Given the description of an element on the screen output the (x, y) to click on. 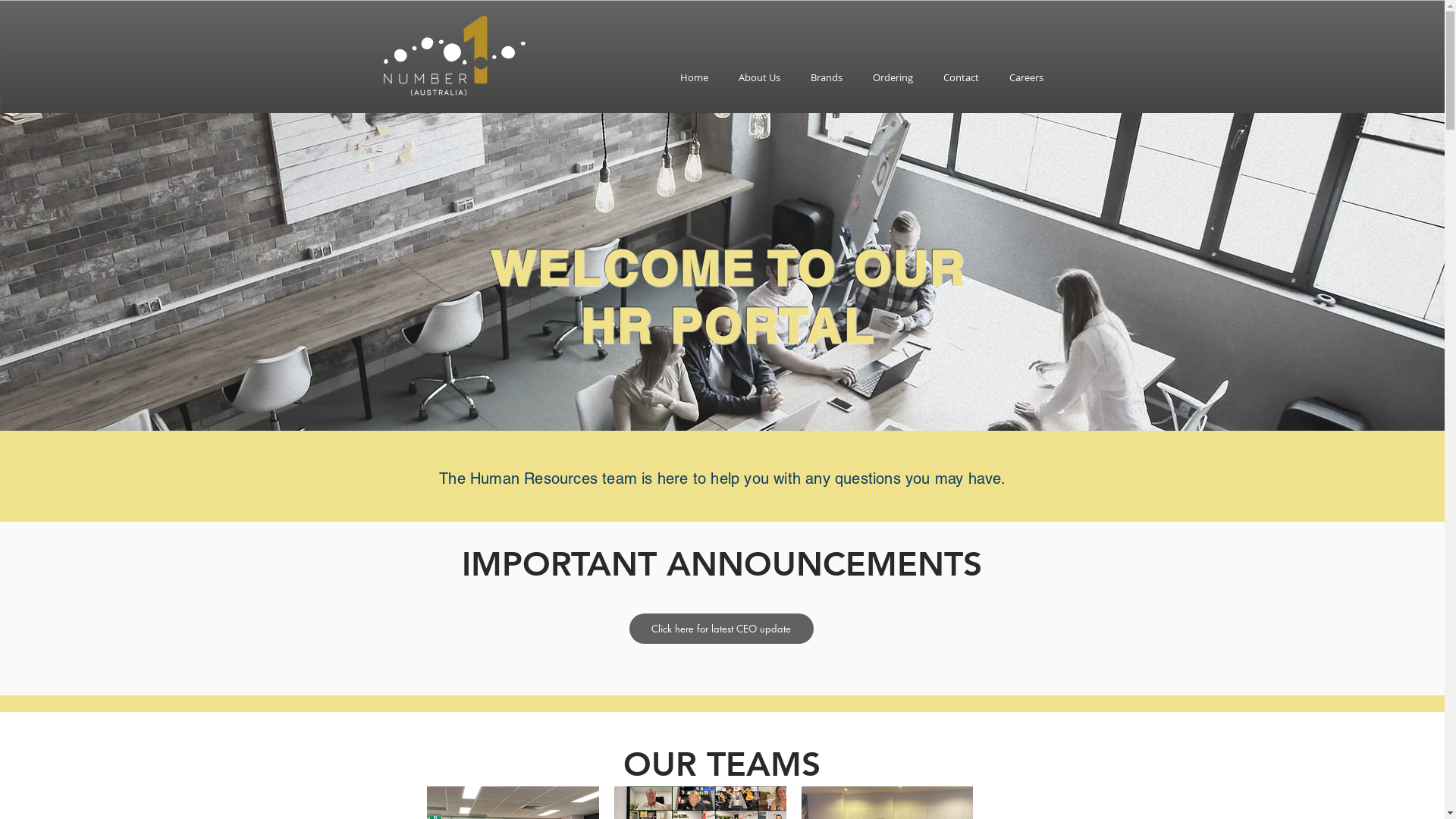
Ordering Element type: text (891, 77)
Home Element type: text (693, 77)
Contact Element type: text (961, 77)
Brands Element type: text (825, 77)
About Us Element type: text (759, 77)
Click here for latest CEO update Element type: text (721, 628)
Careers Element type: text (1025, 77)
